Given the description of an element on the screen output the (x, y) to click on. 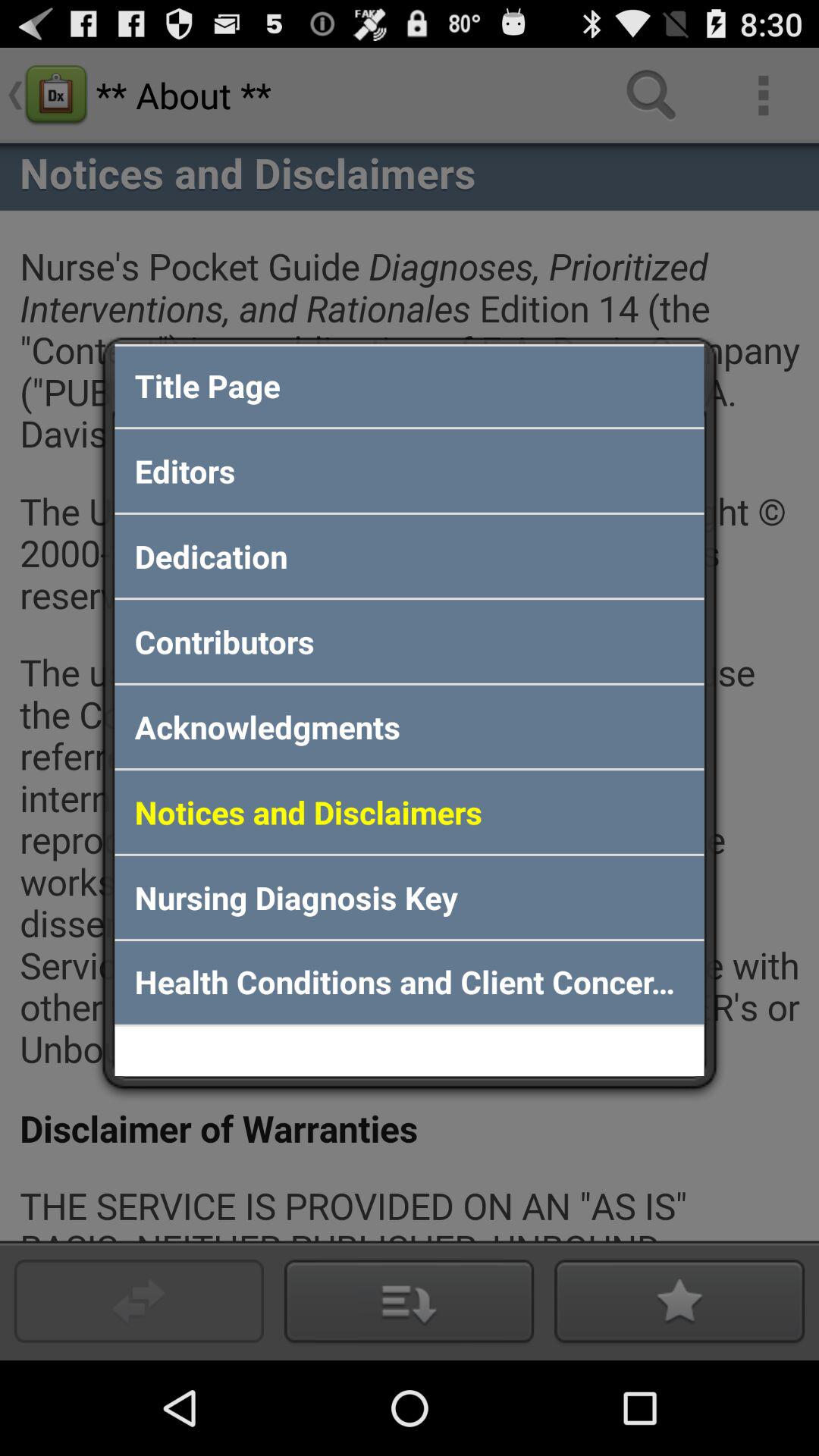
launch title page item (409, 385)
